Given the description of an element on the screen output the (x, y) to click on. 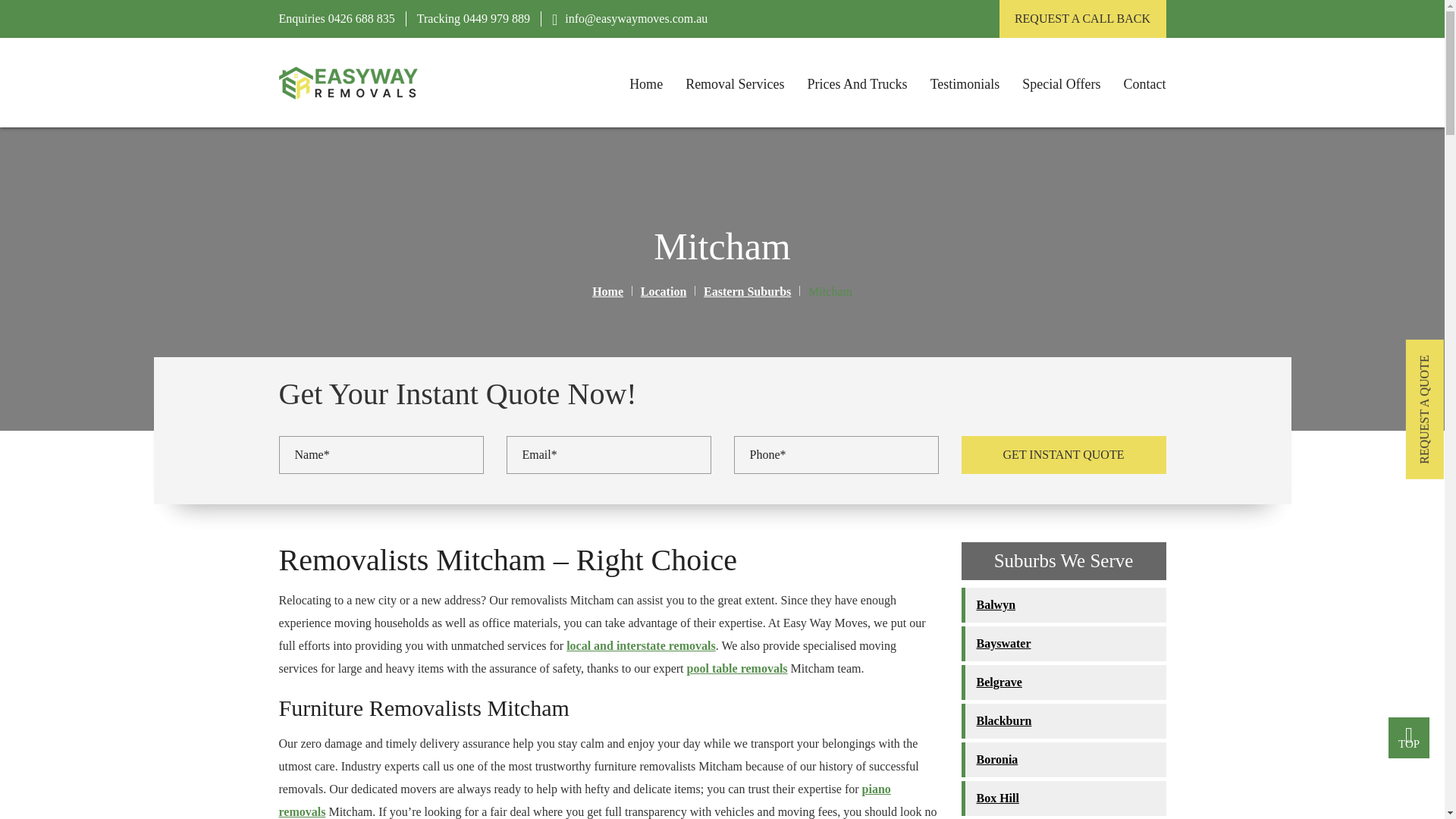
REQUEST A CALL BACK (1082, 18)
0449 979 889 (494, 18)
Boronia (1063, 759)
Testimonials (965, 83)
Contact (1145, 83)
Request a Call Back (1082, 18)
Prices And Trucks (857, 83)
Box Hill (1063, 798)
Removal Services (734, 83)
piano removals (585, 800)
Special Offers (1061, 83)
0449 979 889 (494, 18)
0426 688 835 (359, 18)
Removal Services (734, 83)
pool table removals (737, 667)
